Given the description of an element on the screen output the (x, y) to click on. 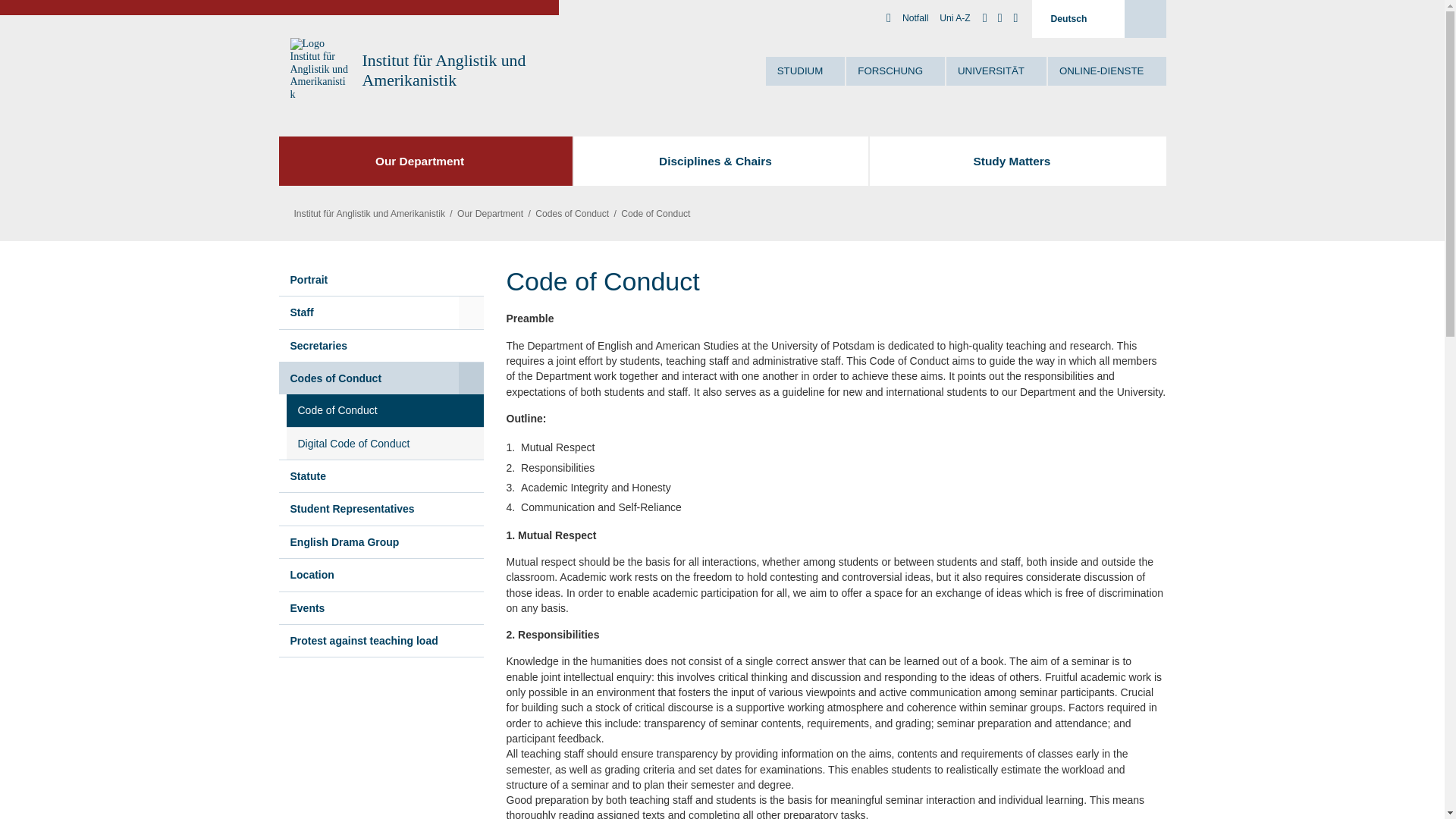
Notfall (915, 18)
zur Uni-Startseite (319, 70)
Uni A-Z (954, 18)
